Given the description of an element on the screen output the (x, y) to click on. 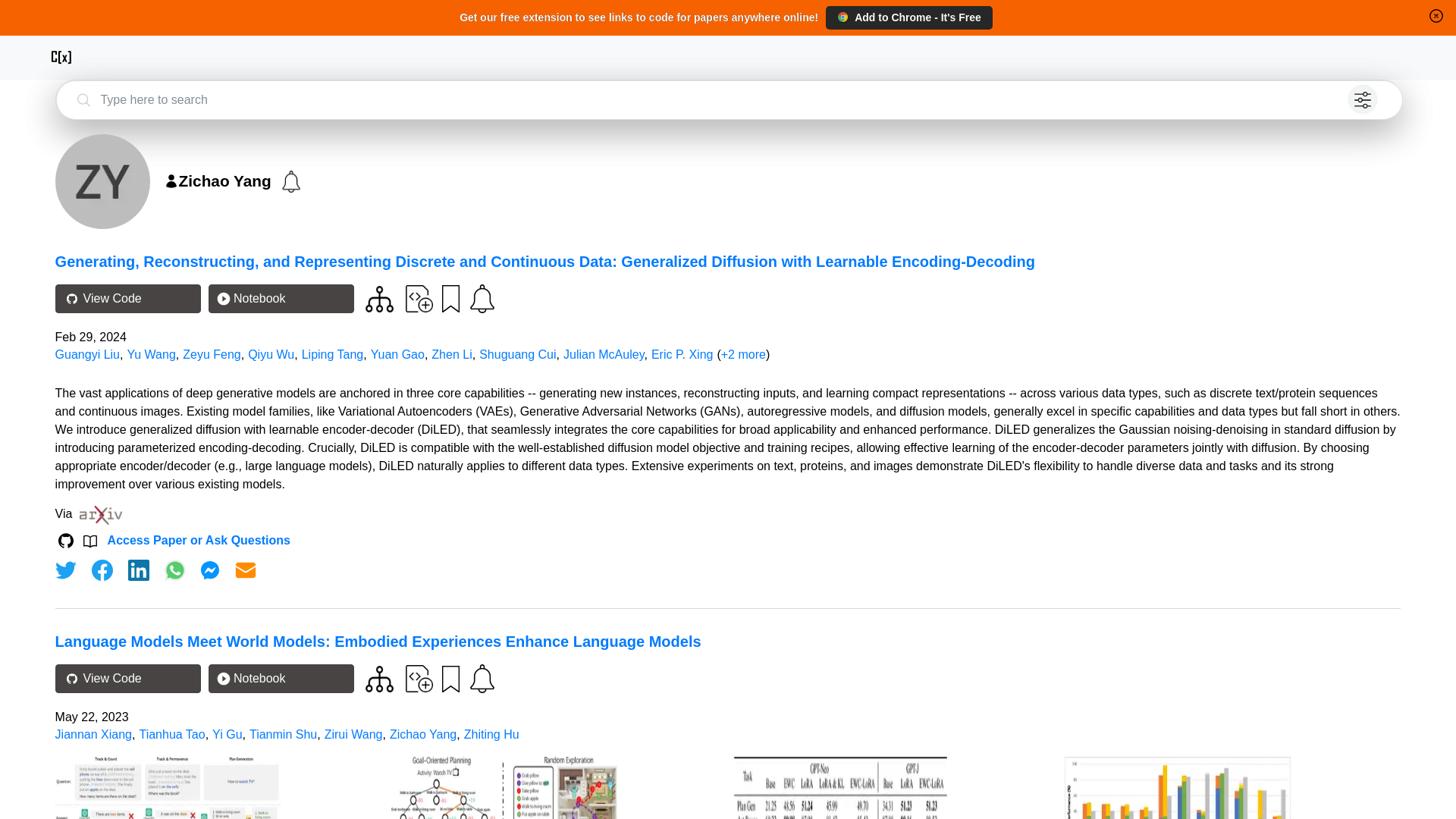
Guangyi Liu (87, 354)
Julian McAuley (603, 354)
Shuguang Cui (517, 354)
Share via Email (245, 569)
Yuan Gao (398, 354)
Add to Chrome - It's Free (908, 17)
Yu Wang (150, 354)
View Code (127, 298)
Contribute your code for this paper to the community (419, 678)
Tianhua Tao (171, 734)
Notebook (280, 298)
View code for similar papers (379, 678)
Liping Tang (332, 354)
Qiyu Wu (270, 354)
View code for similar papers (379, 298)
